Given the description of an element on the screen output the (x, y) to click on. 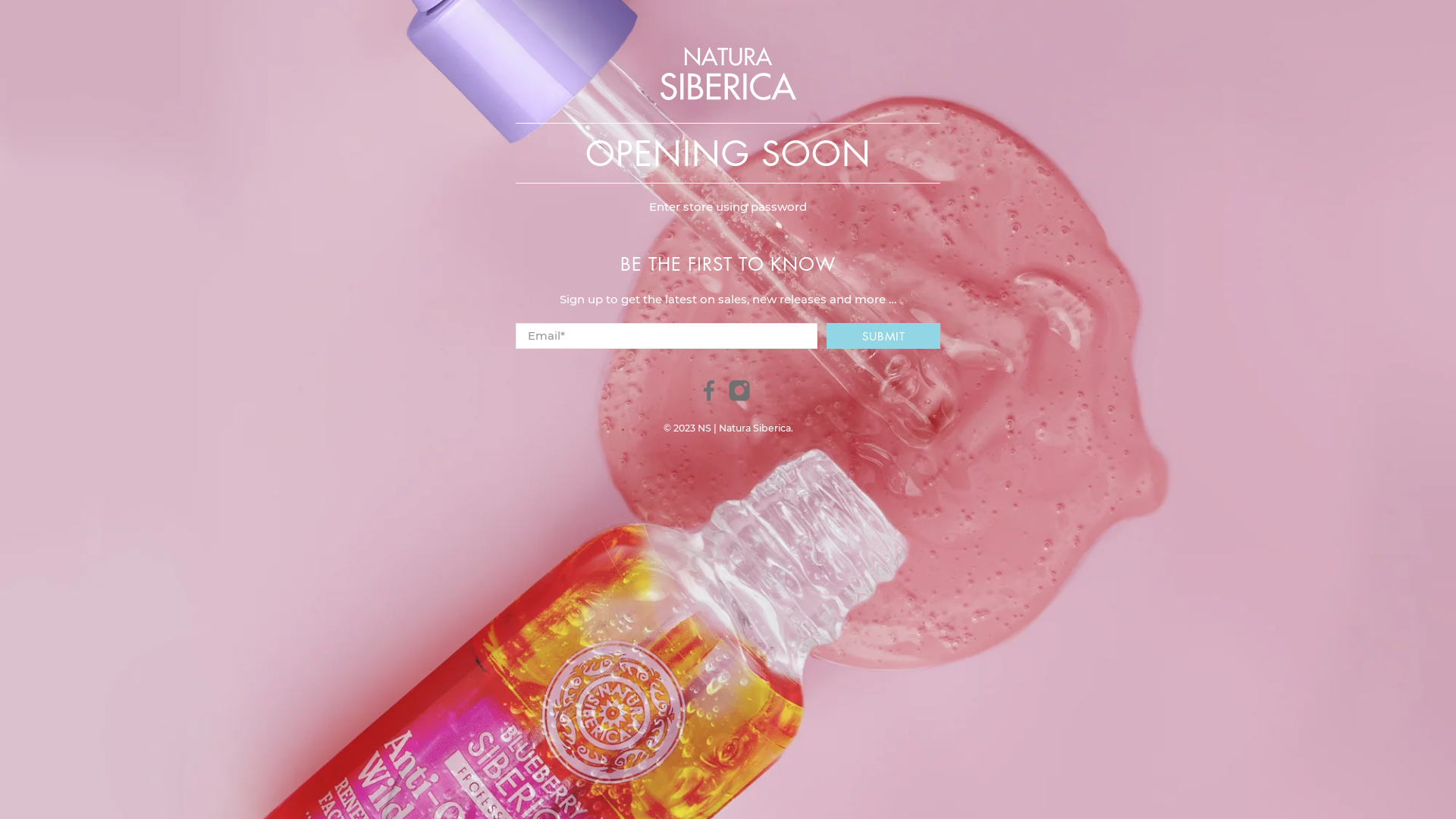
NS | Natura Siberica on Instagram Element type: hover (739, 397)
Enter Element type: text (727, 434)
NS | Natura Siberica on Facebook Element type: hover (708, 397)
Enter store using password Element type: text (727, 205)
SUBMIT Element type: text (883, 335)
